Given the description of an element on the screen output the (x, y) to click on. 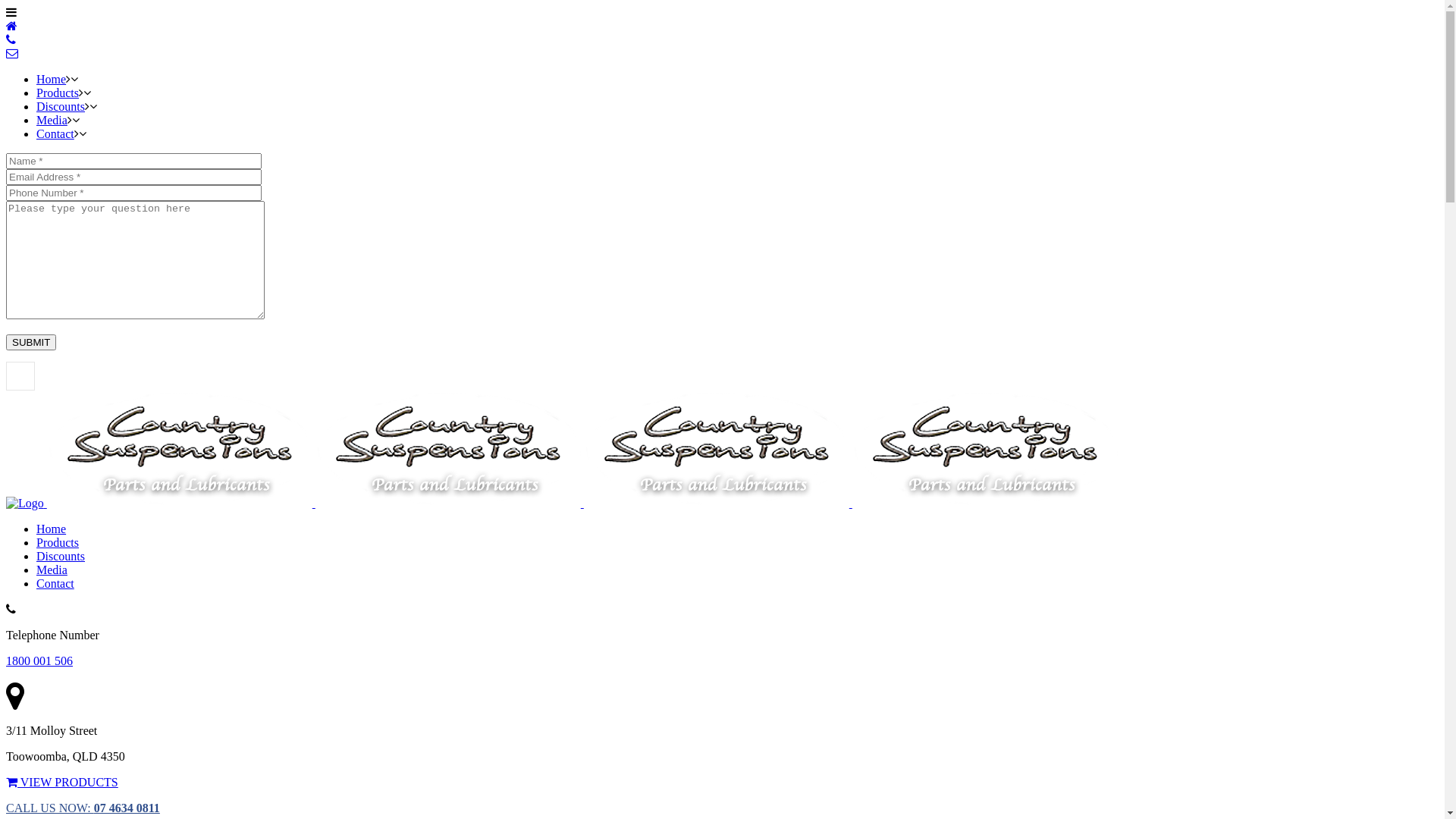
Contact Element type: text (55, 133)
Products Element type: text (57, 92)
Contact Element type: text (55, 583)
SUBMIT Element type: text (31, 342)
Home Element type: text (50, 78)
1800 001 506 Element type: text (39, 660)
Discounts Element type: text (60, 555)
Home Element type: text (50, 528)
Media Element type: text (51, 119)
Discounts Element type: text (60, 106)
Products Element type: text (57, 542)
VIEW PRODUCTS Element type: text (62, 781)
Media Element type: text (51, 569)
CALL US NOW: 07 4634 0811 Element type: text (83, 807)
